Given the description of an element on the screen output the (x, y) to click on. 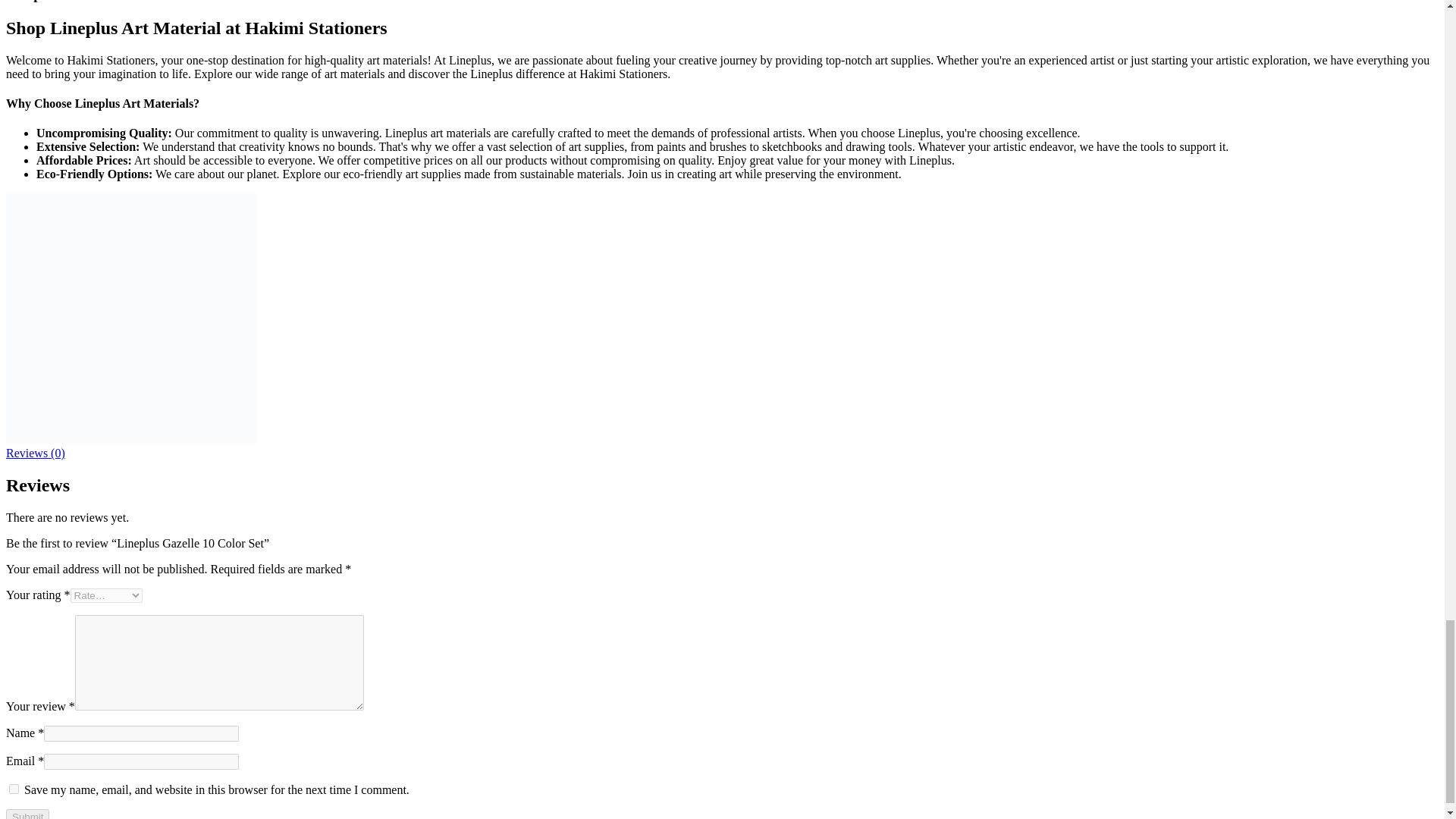
Lineplus (130, 439)
yes (13, 788)
